Given the description of an element on the screen output the (x, y) to click on. 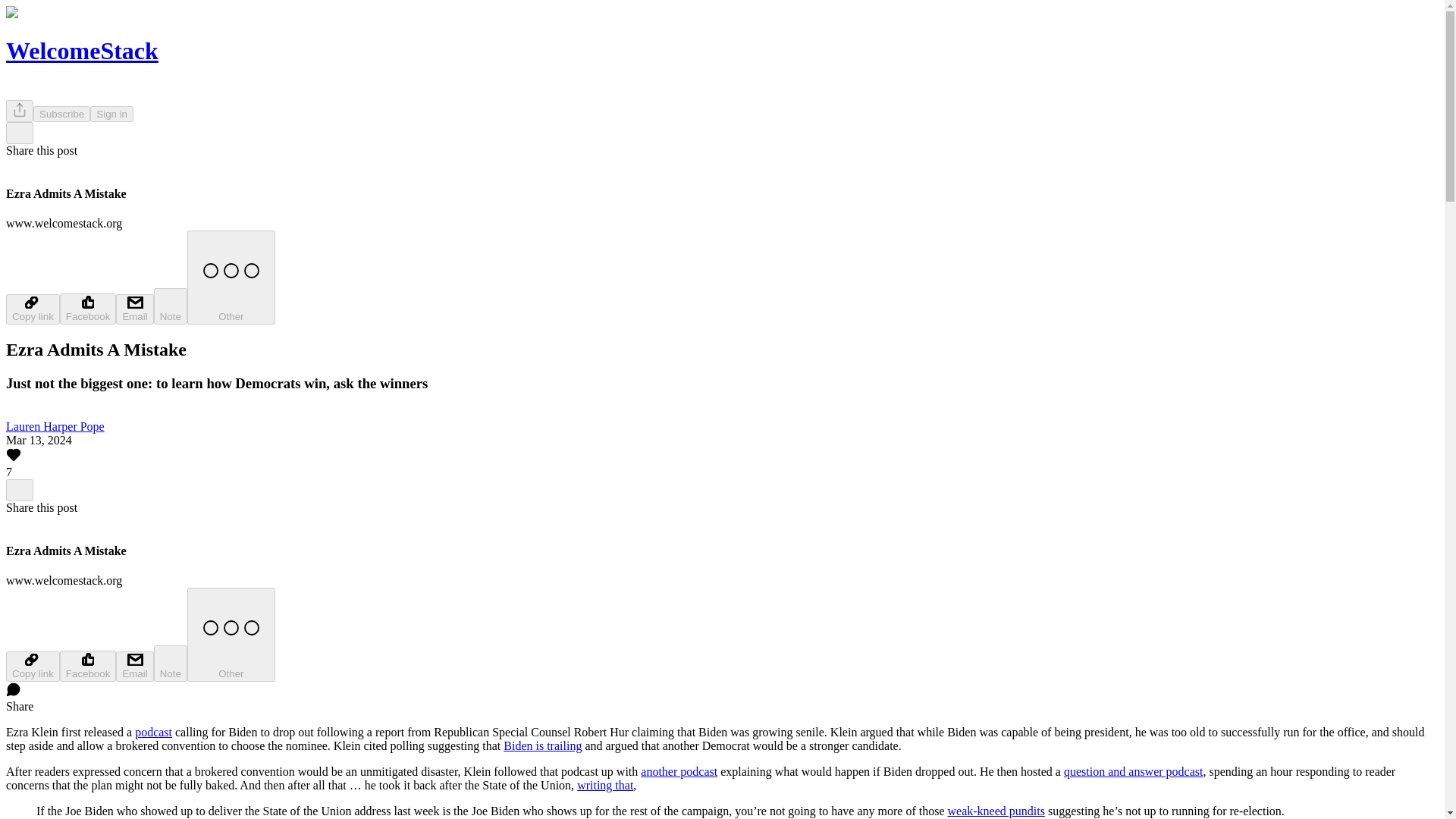
WelcomeStack (81, 50)
Other (231, 277)
weak-kneed pundits (996, 810)
another podcast (678, 771)
Biden is trailing (541, 745)
Email (134, 666)
Facebook (87, 308)
Note (170, 306)
Note (170, 663)
Copy link (32, 309)
writing that (604, 784)
Lauren Harper Pope (54, 426)
question and answer podcast (1134, 771)
Other (231, 634)
Subscribe (61, 114)
